Given the description of an element on the screen output the (x, y) to click on. 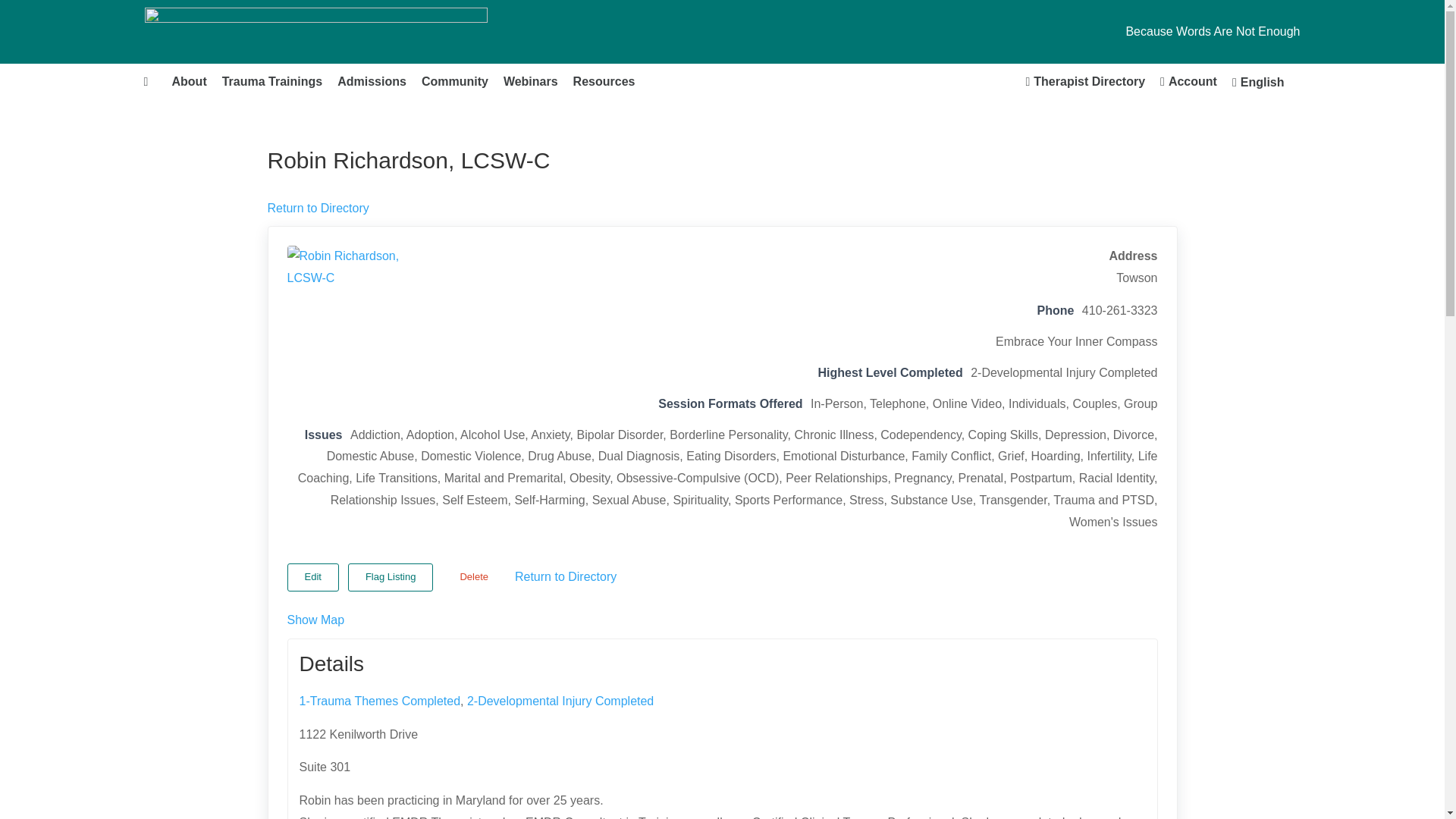
Account (1188, 82)
About (188, 82)
English (1258, 82)
Community (454, 82)
Resources (604, 82)
English (1258, 82)
Return to Directory (565, 576)
Trauma Trainings (272, 82)
Edit (311, 577)
Return to Directory (317, 207)
Webinars (531, 82)
Show Map (314, 619)
Flag Listing (389, 577)
Delete (473, 577)
Therapist Directory (1085, 82)
